Given the description of an element on the screen output the (x, y) to click on. 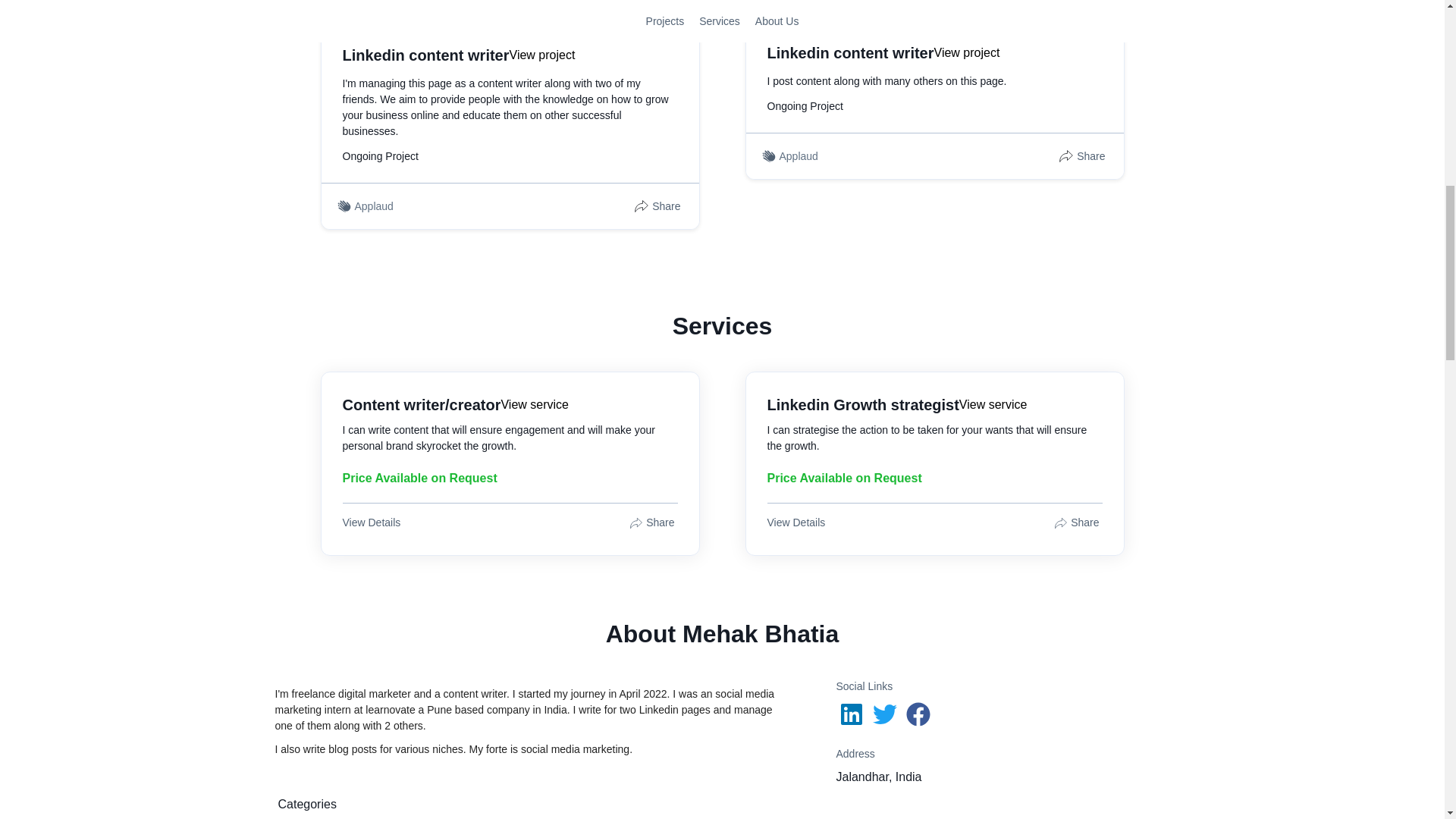
Share (652, 522)
 linkedin (852, 713)
Applaud (799, 156)
View Details (797, 522)
View Details (373, 522)
 facebook (919, 713)
Share (1078, 522)
Share (657, 206)
 twitter (885, 713)
Applaud (375, 206)
